Given the description of an element on the screen output the (x, y) to click on. 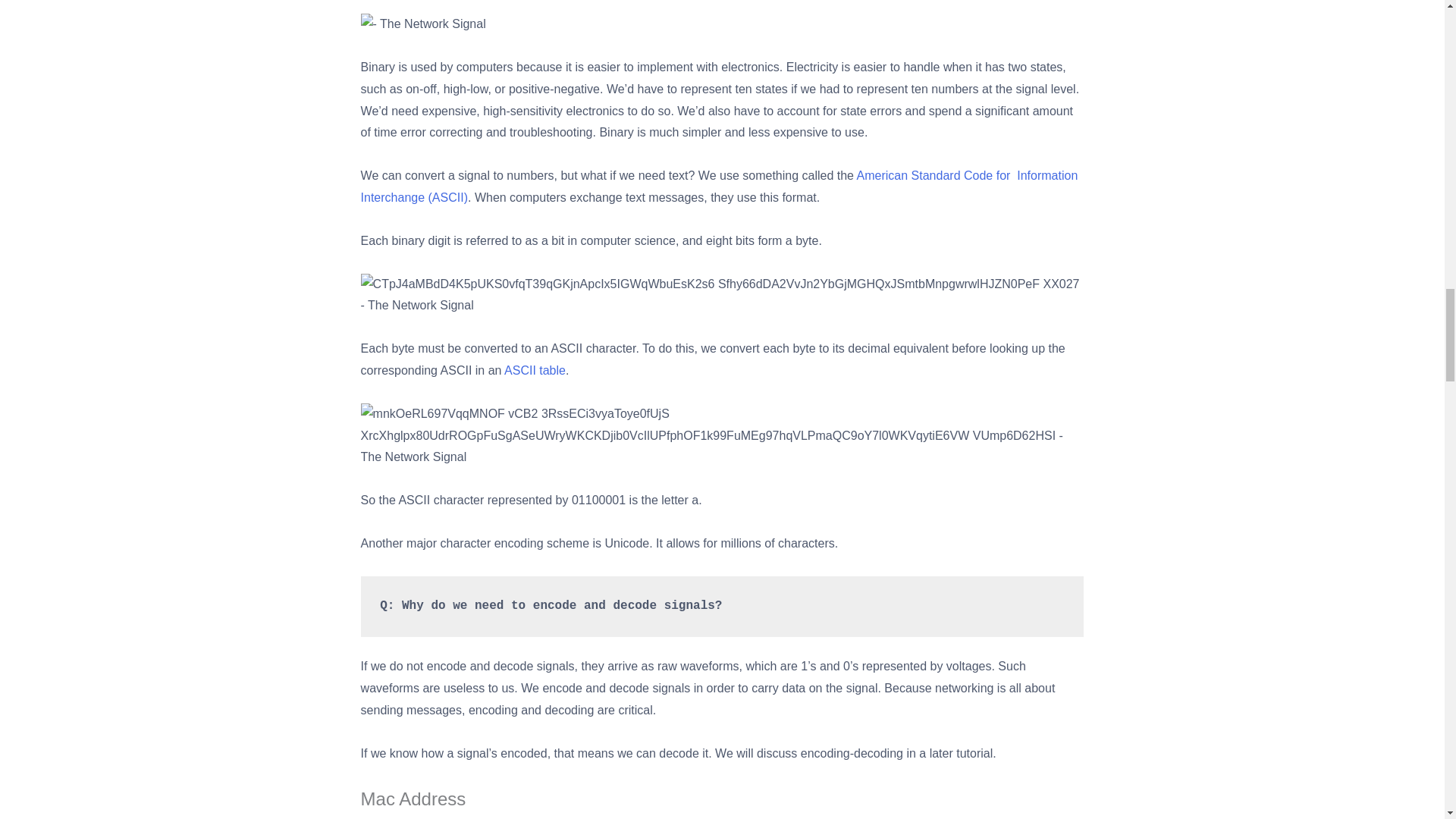
The Network Signal 10 (722, 435)
The Network Signal 8 (423, 24)
The Network Signal 9 (722, 295)
